Given the description of an element on the screen output the (x, y) to click on. 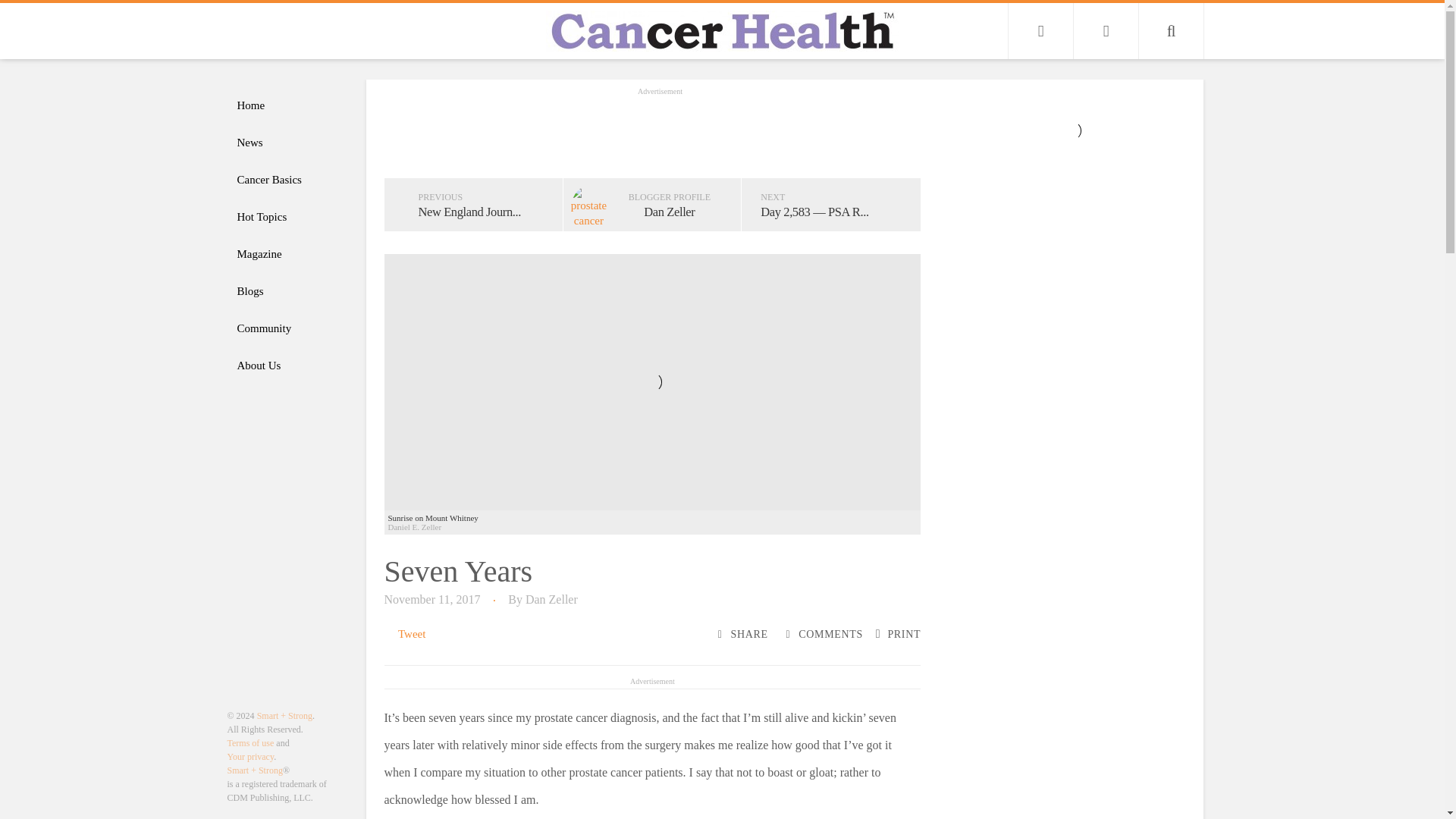
Cancer Basics (288, 180)
Hot Topics (288, 217)
News (288, 142)
Home (288, 105)
